Given the description of an element on the screen output the (x, y) to click on. 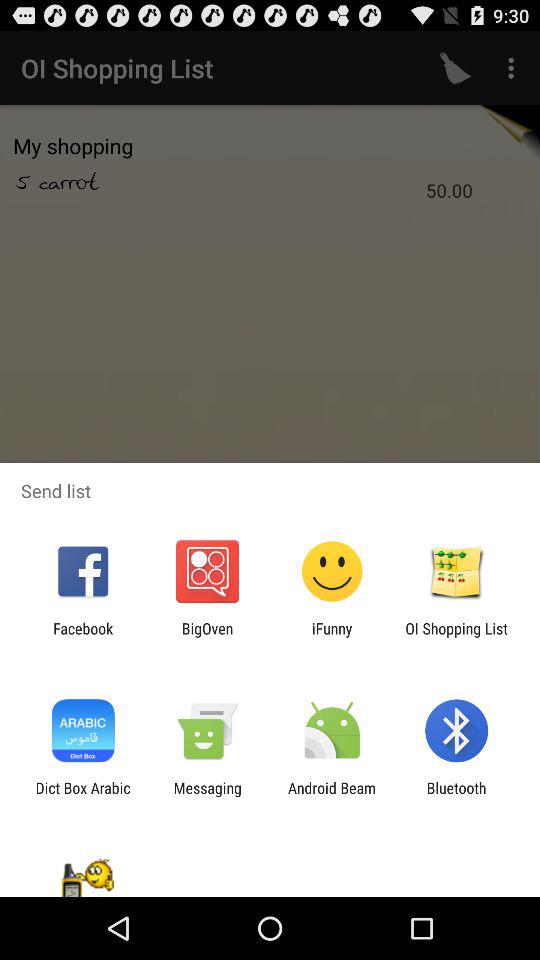
select the bluetooth (456, 796)
